Given the description of an element on the screen output the (x, y) to click on. 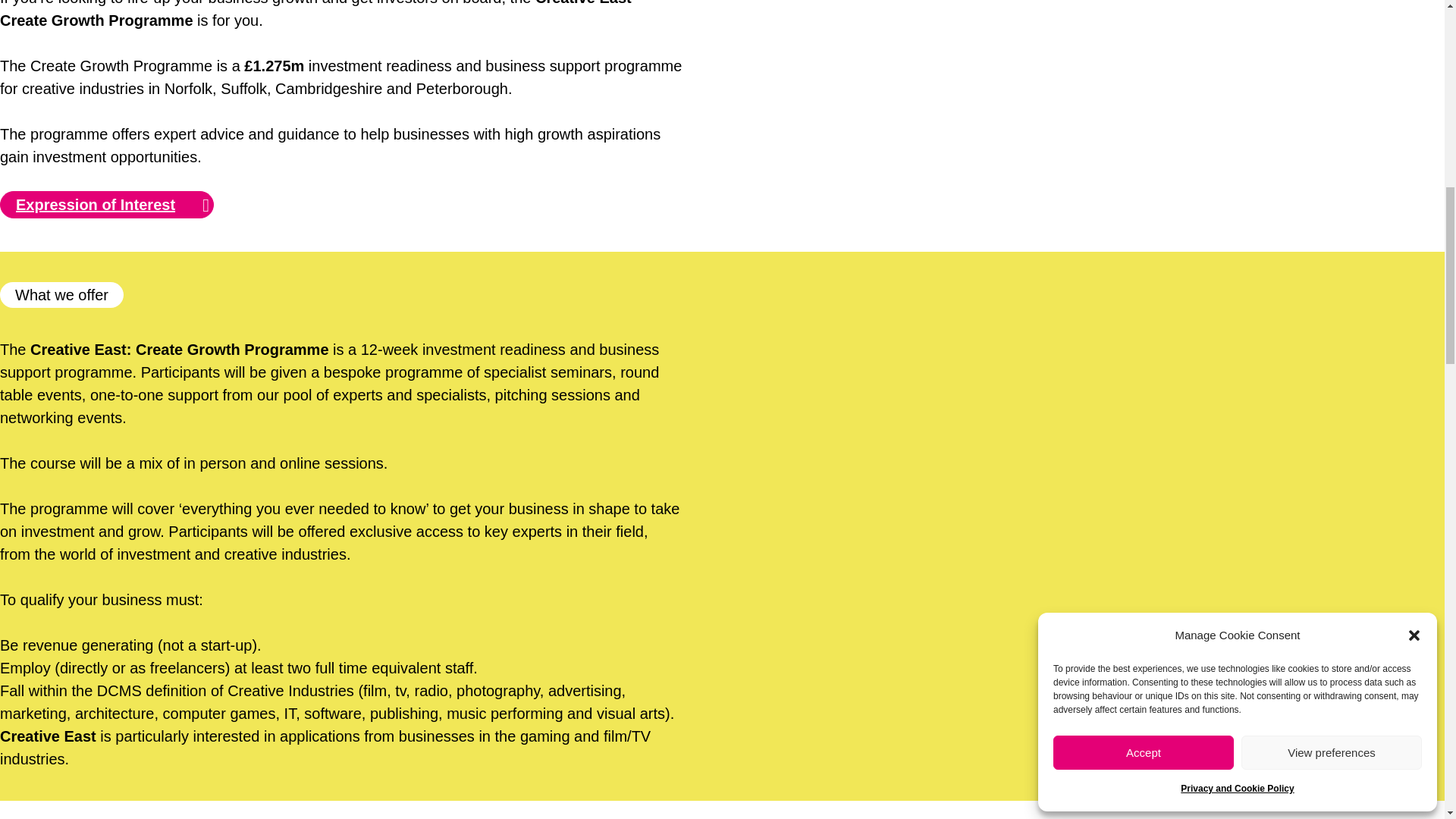
Expression of Interest (107, 204)
